Given the description of an element on the screen output the (x, y) to click on. 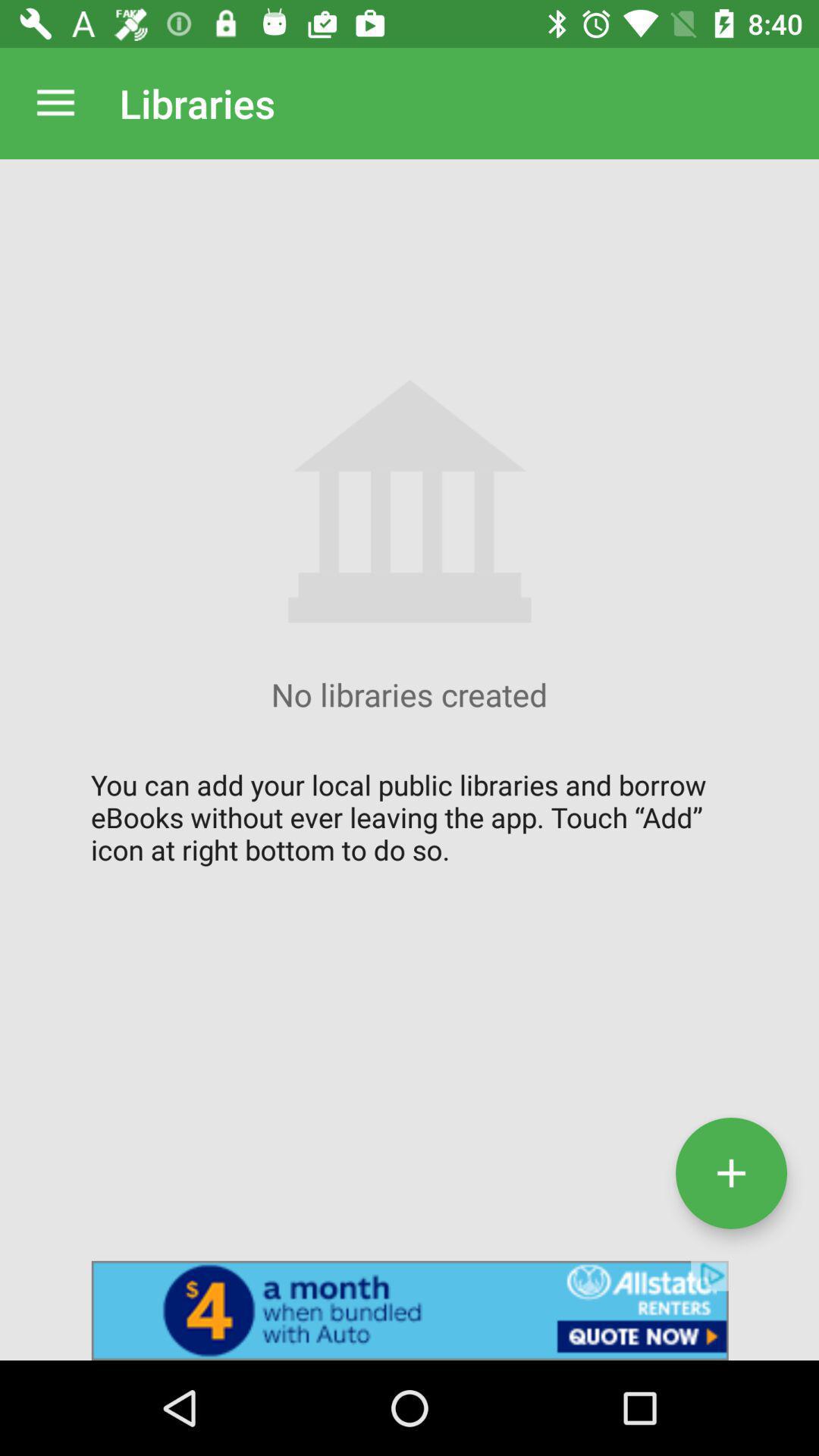
touch add icon at right button to do so (731, 1173)
